Given the description of an element on the screen output the (x, y) to click on. 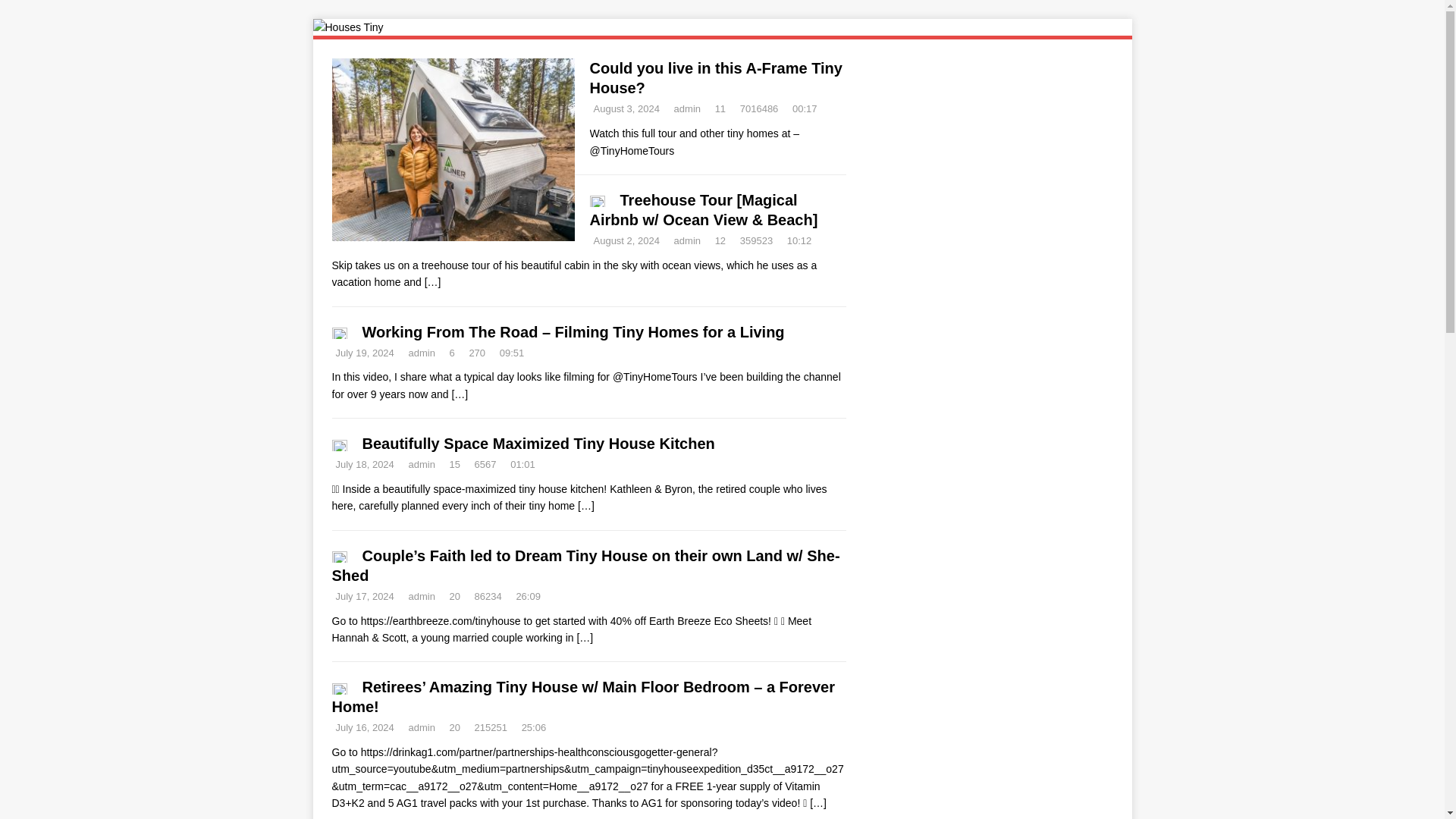
admin (687, 240)
admin (420, 595)
Houses Tiny (347, 27)
Could you live in this A-Frame Tiny House? (716, 77)
admin (420, 727)
Beautifully Space Maximized Tiny House Kitchen (586, 505)
12 (719, 240)
20 (454, 727)
20 (454, 595)
admin (420, 464)
admin (420, 352)
Beautifully Space Maximized Tiny House Kitchen (538, 443)
admin (687, 108)
11 (719, 108)
15 (454, 464)
